Given the description of an element on the screen output the (x, y) to click on. 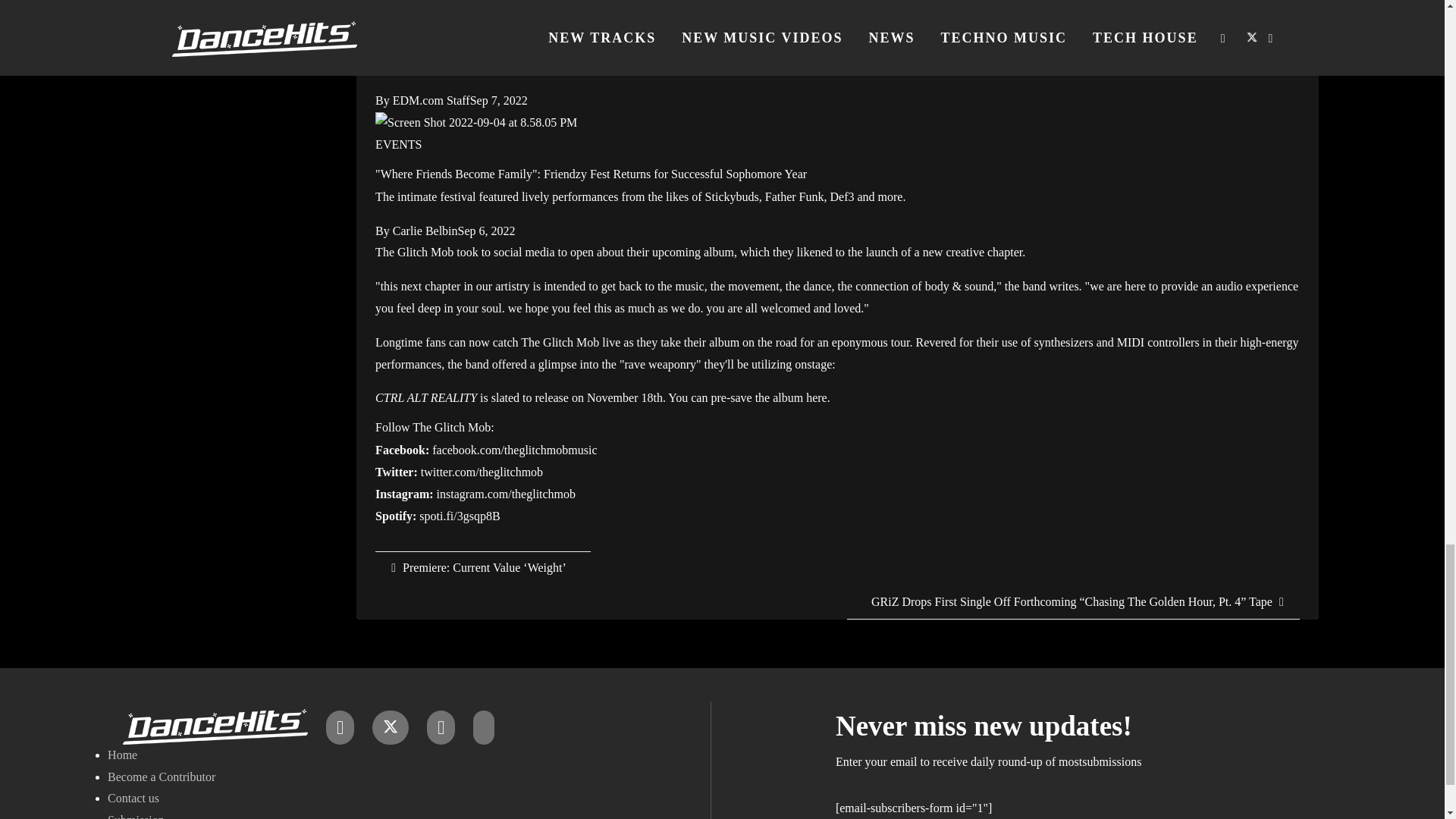
Sep 6, 2022 (486, 230)
Sep 7, 2022 (498, 100)
